Given the description of an element on the screen output the (x, y) to click on. 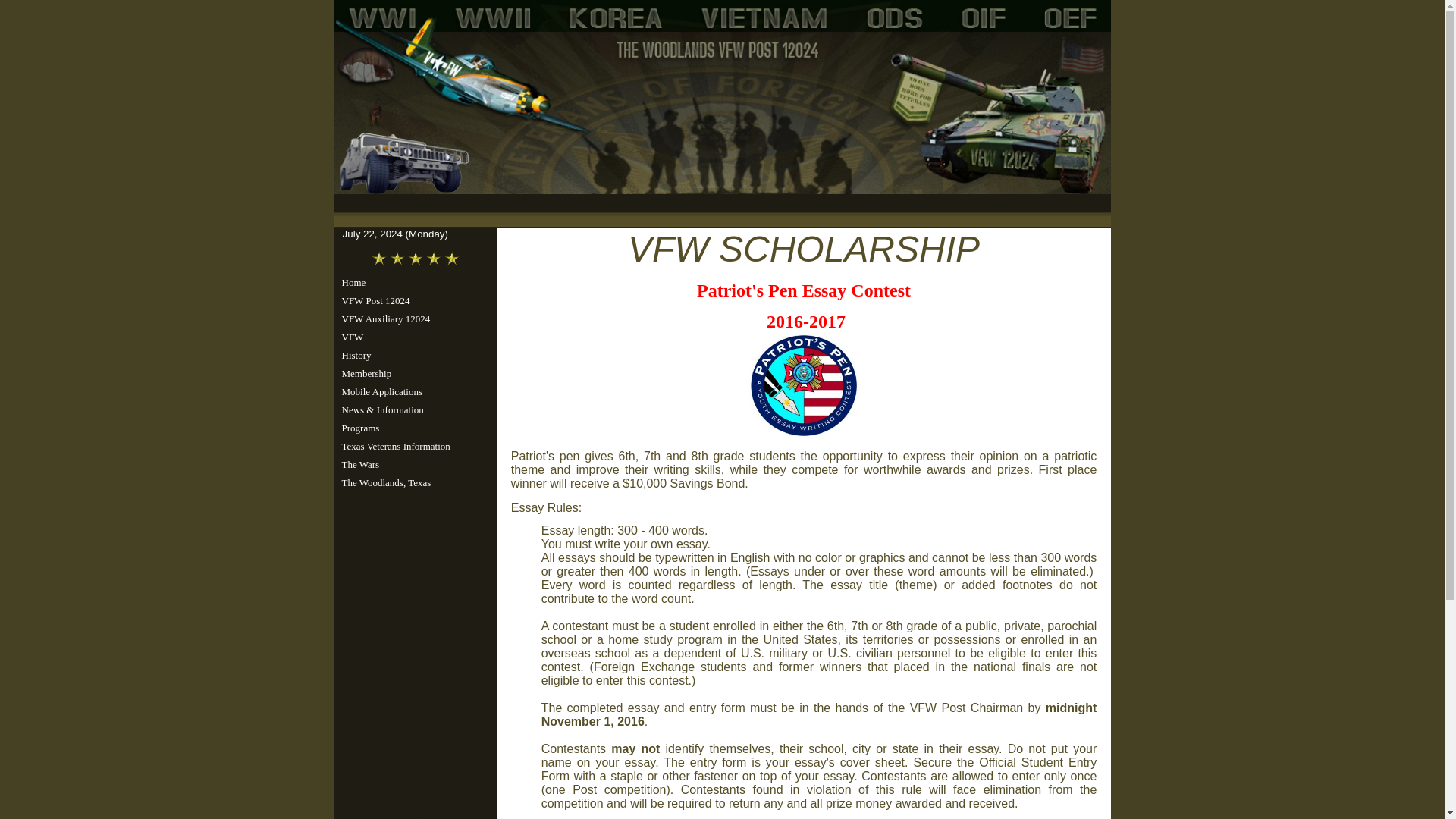
VFW Post 12024 (413, 300)
History (413, 355)
VFW Auxiliary 12024 (413, 319)
Home (413, 282)
VFW (413, 337)
